Given the description of an element on the screen output the (x, y) to click on. 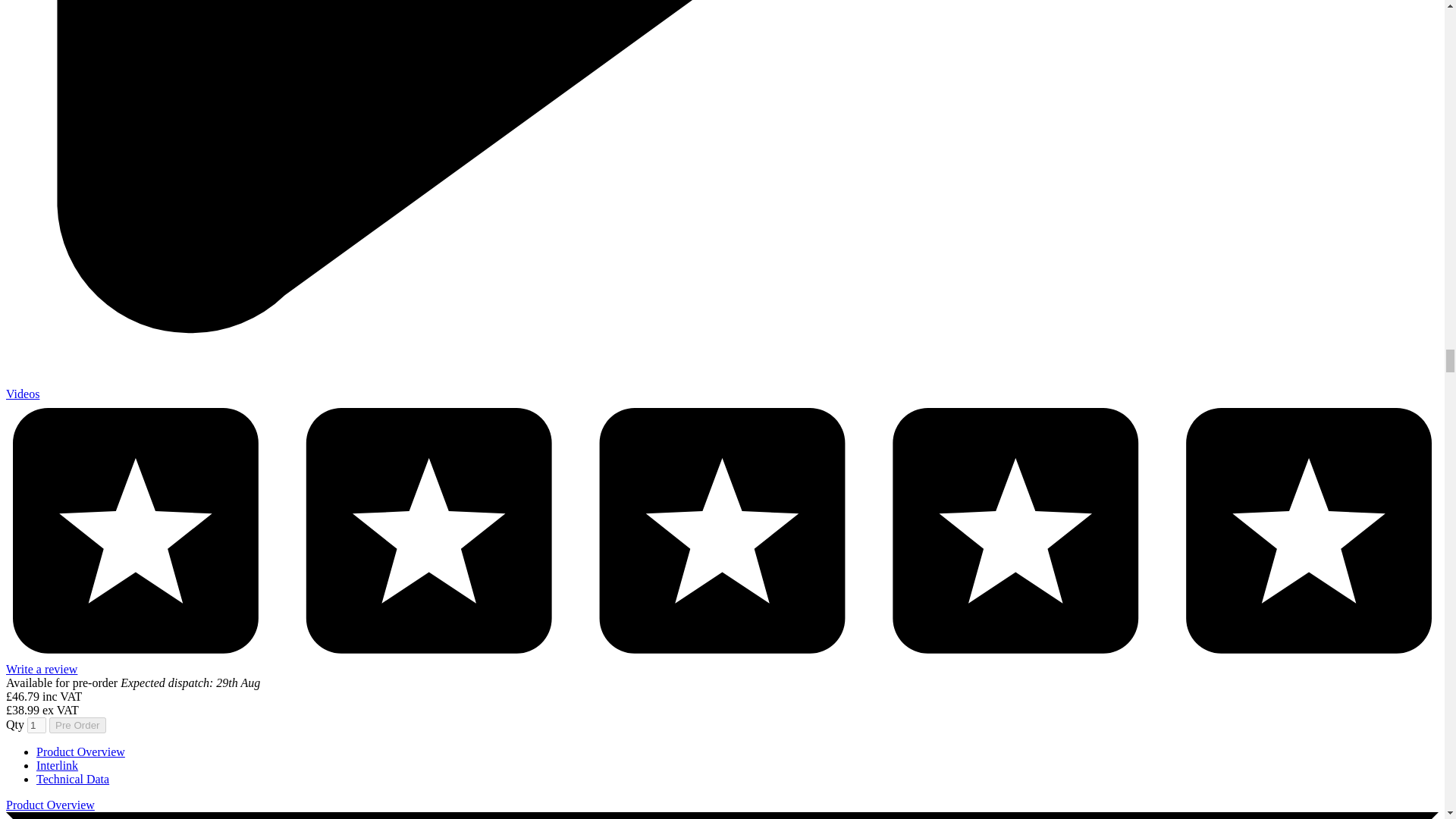
Pre Order (77, 725)
Pre Order (77, 725)
Technical Data (72, 779)
Product Overview (80, 751)
1 (36, 725)
Interlink (57, 765)
